Given the description of an element on the screen output the (x, y) to click on. 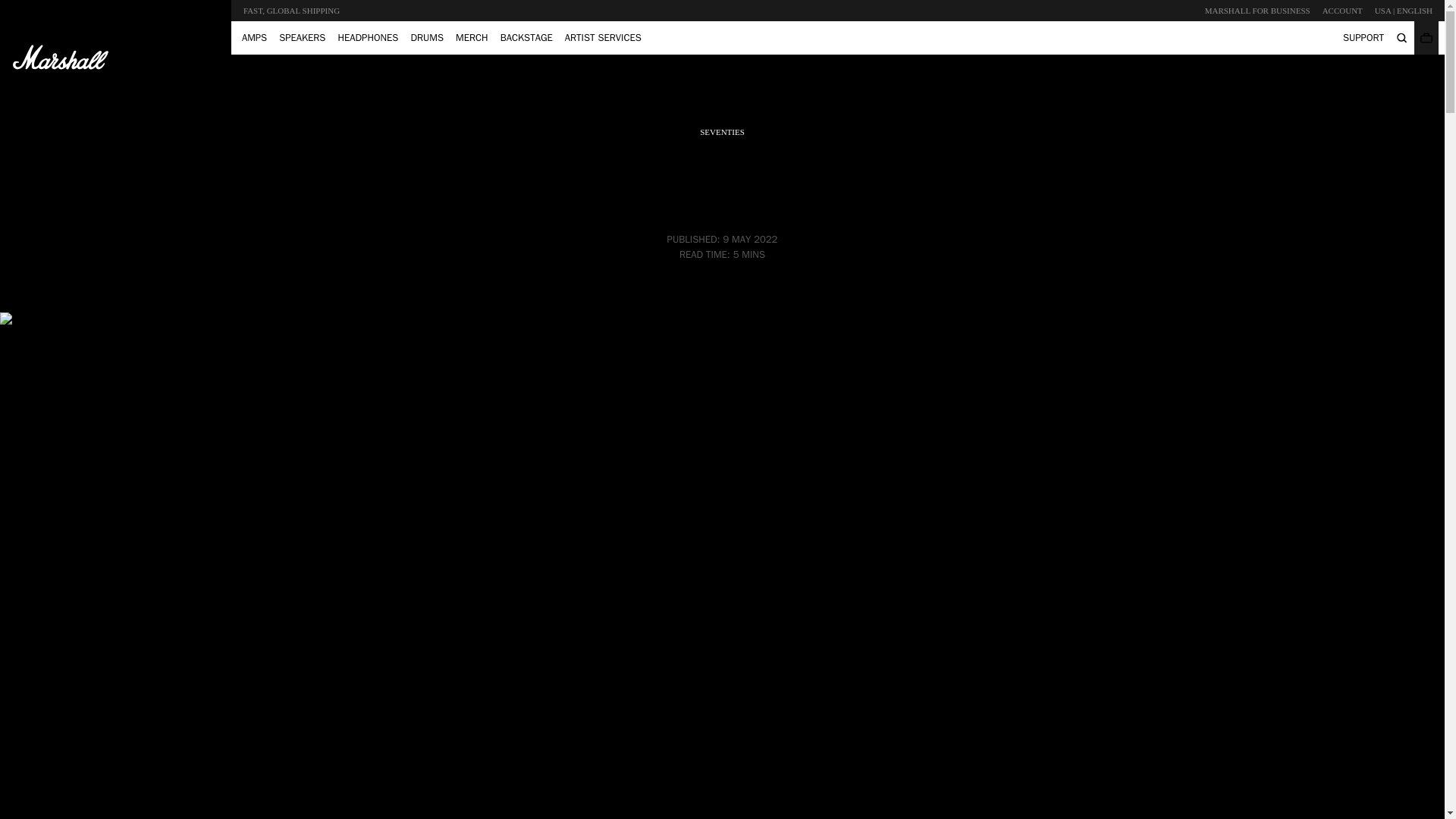
BACKSTAGE (527, 37)
SEVENTIES (722, 131)
SPEAKERS (302, 37)
ACCOUNT (1342, 10)
HEADPHONES (367, 37)
MARSHALL FOR BUSINESS (1257, 10)
MERCH (472, 37)
DRUMS (426, 37)
AMPS (254, 37)
ARTIST SERVICES (603, 37)
